Given the description of an element on the screen output the (x, y) to click on. 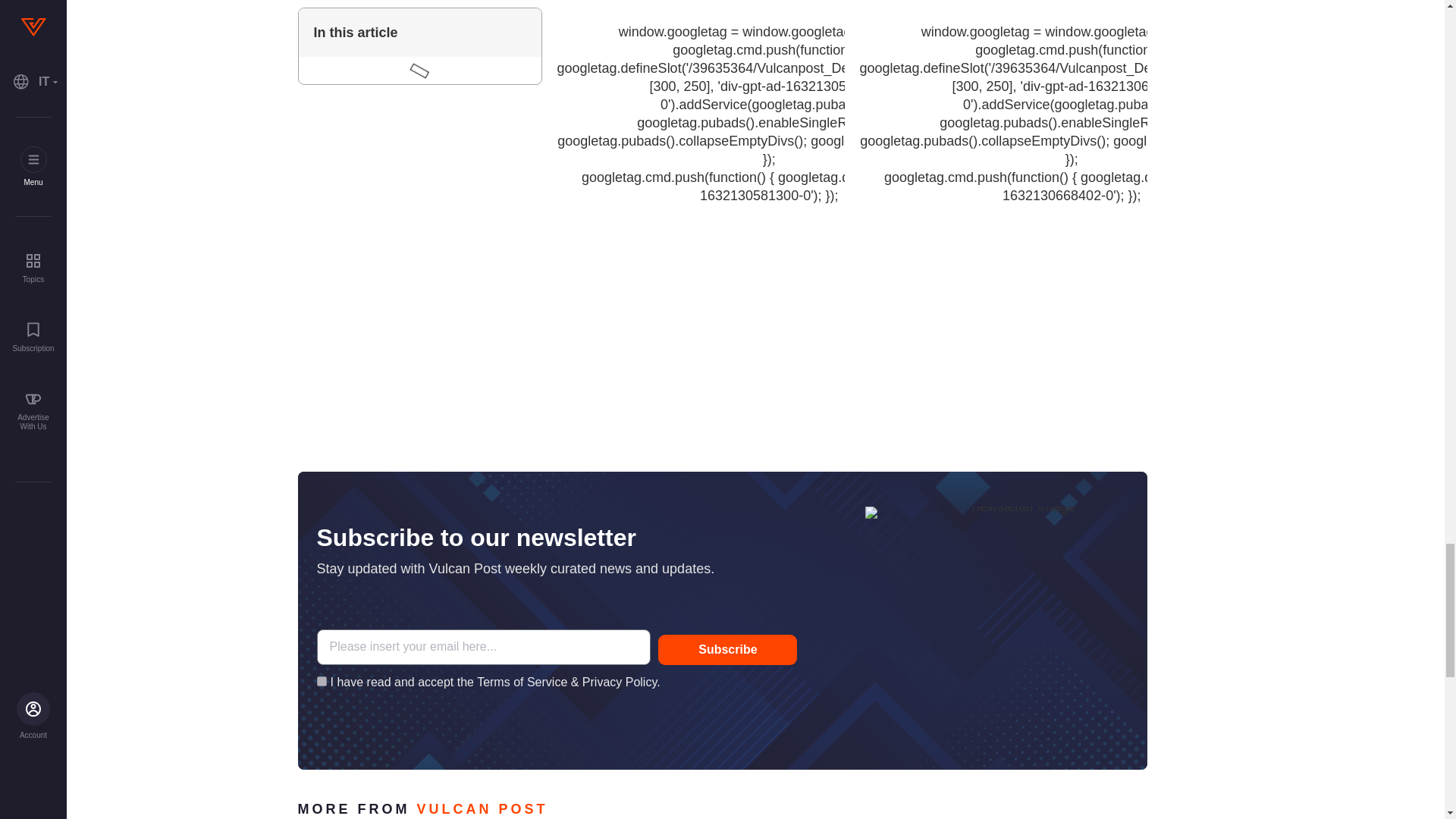
Subscribe (727, 649)
on (321, 681)
